Given the description of an element on the screen output the (x, y) to click on. 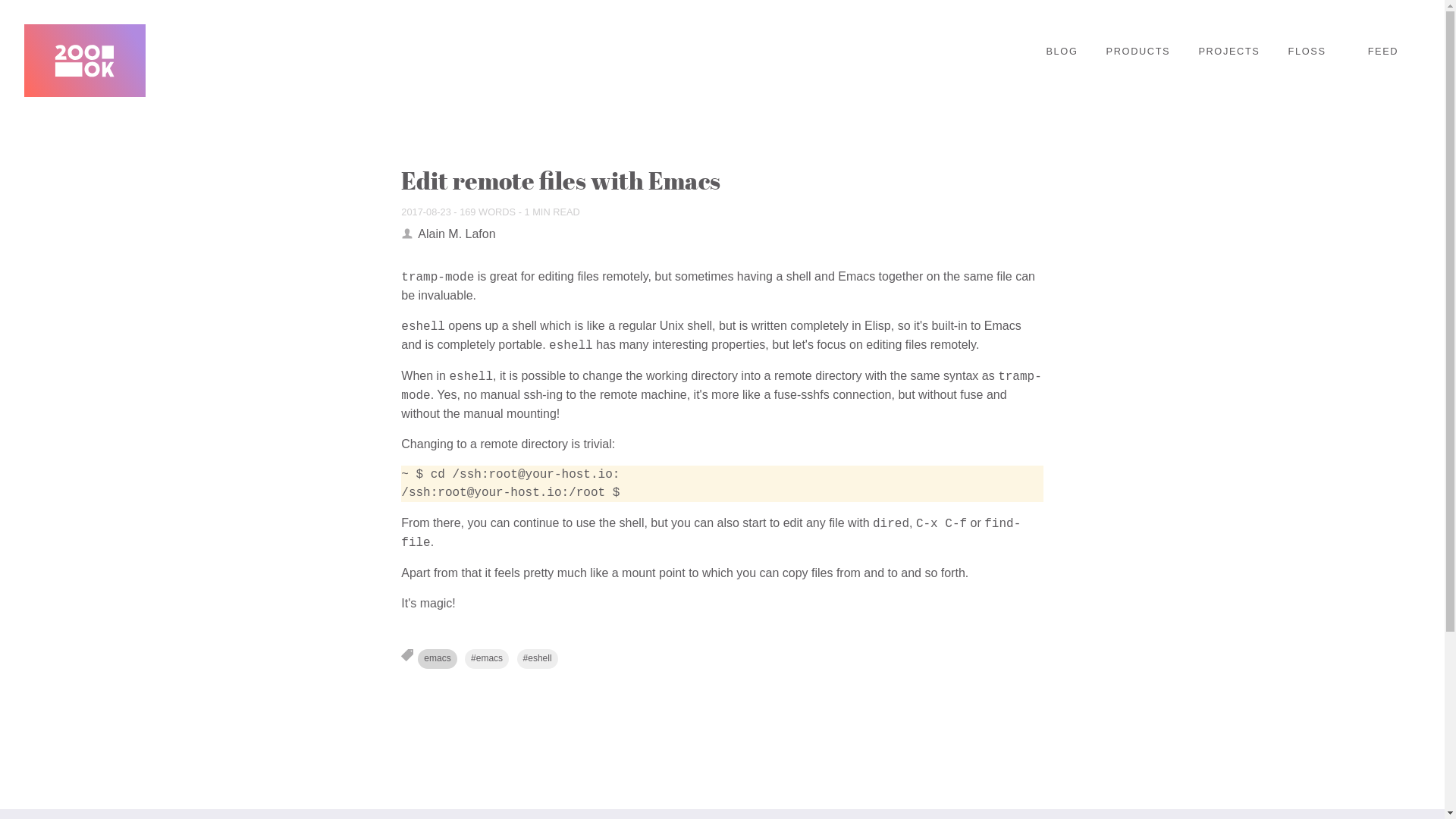
BLOG Element type: text (1061, 50)
emacs Element type: text (436, 658)
#emacs Element type: text (486, 657)
#eshell Element type: text (537, 657)
PRODUCTS Element type: text (1138, 50)
 FEED Element type: text (1381, 50)
Edit remote files with Emacs Element type: text (560, 180)
FLOSS Element type: text (1307, 50)
PROJECTS Element type: text (1228, 50)
